Given the description of an element on the screen output the (x, y) to click on. 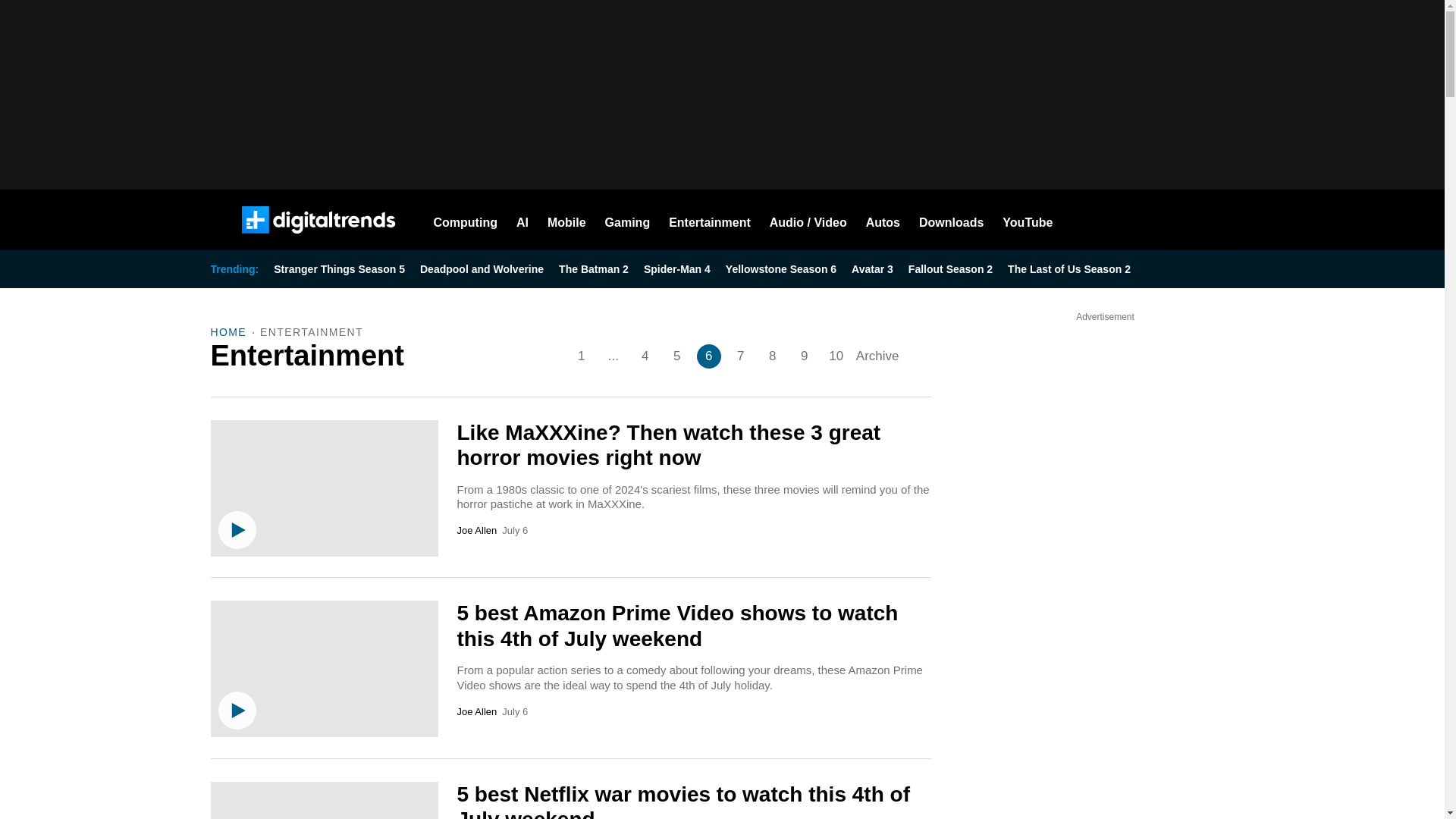
AI (522, 219)
Gaming (627, 219)
YouTube (1027, 219)
Mobile (566, 219)
7.6.24 5:15am (514, 712)
Computing (465, 219)
Autos (882, 219)
Downloads (951, 219)
7.6.24 6:30am (514, 530)
Entertainment (709, 219)
